Given the description of an element on the screen output the (x, y) to click on. 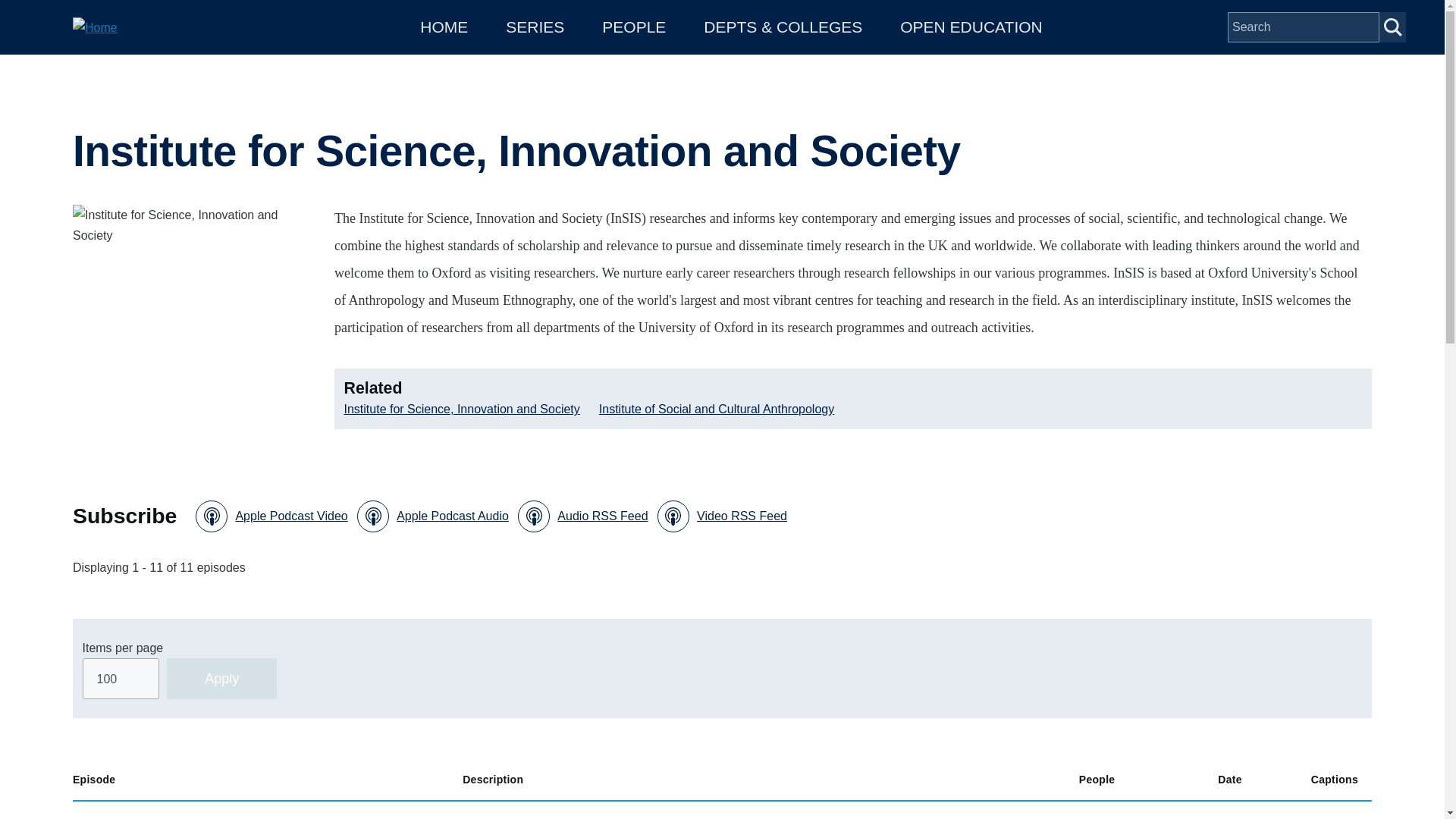
Institute for Science, Innovation and Society (461, 408)
Apple Podcast Audio (432, 516)
Apply (221, 678)
PEOPLE (633, 27)
OPEN EDUCATION (970, 27)
Institute for Science, Innovation and Society (193, 325)
Apply (221, 678)
Apple Podcast Video (271, 516)
Institute of Social and Cultural Anthropology (716, 408)
HOME (443, 27)
Video RSS Feed (722, 516)
SERIES (534, 27)
Audio RSS Feed (582, 516)
